Given the description of an element on the screen output the (x, y) to click on. 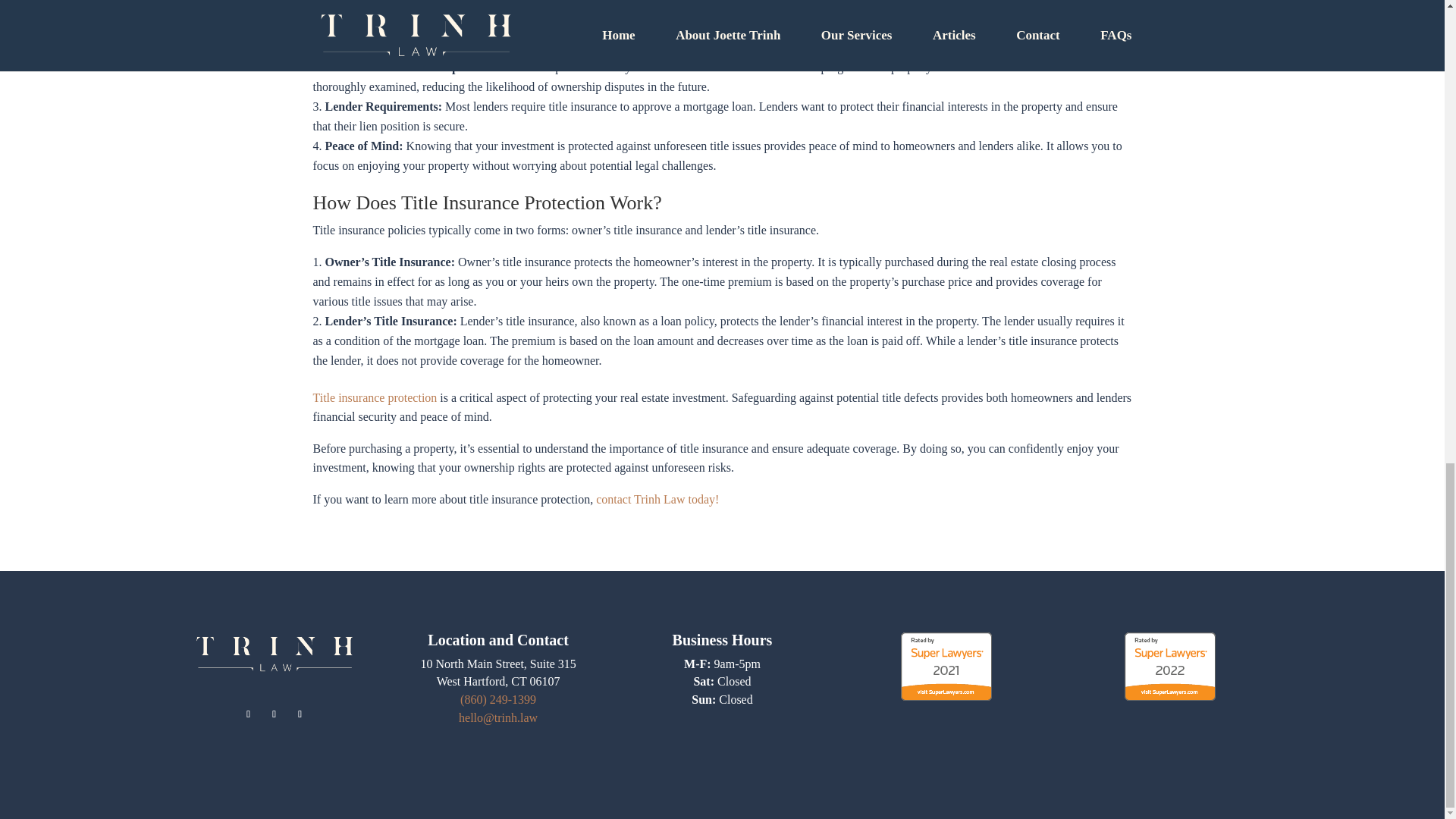
contact Trinh Law today! (657, 499)
Follow on LinkedIn (299, 713)
Title insurance protection (374, 397)
superlawyers logo (946, 666)
Follow on Facebook (248, 713)
Follow on Instagram (273, 713)
sl-badge-s-w-2022 (1169, 666)
